Given the description of an element on the screen output the (x, y) to click on. 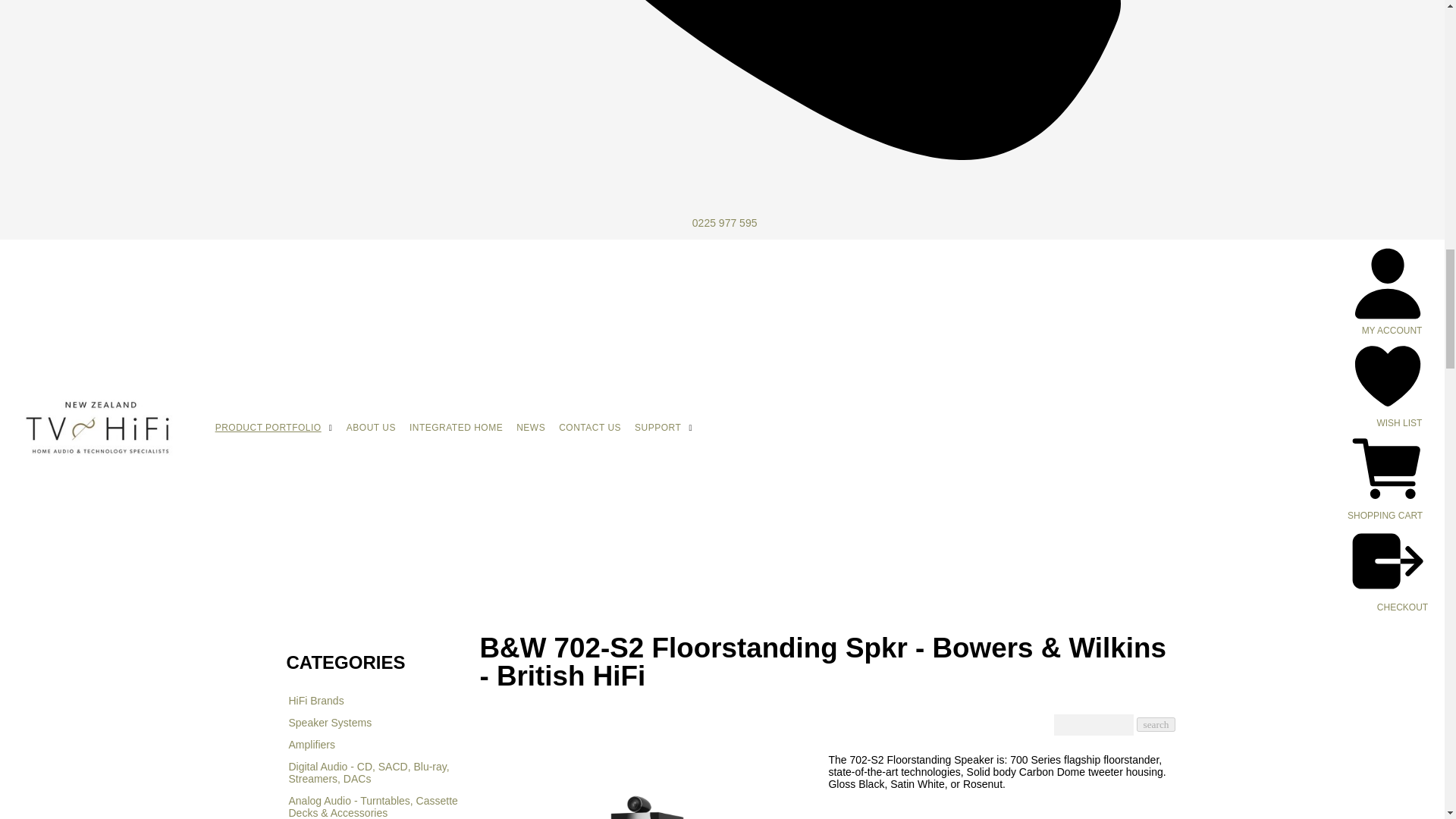
PRODUCT PORTFOLIO (268, 427)
